Given the description of an element on the screen output the (x, y) to click on. 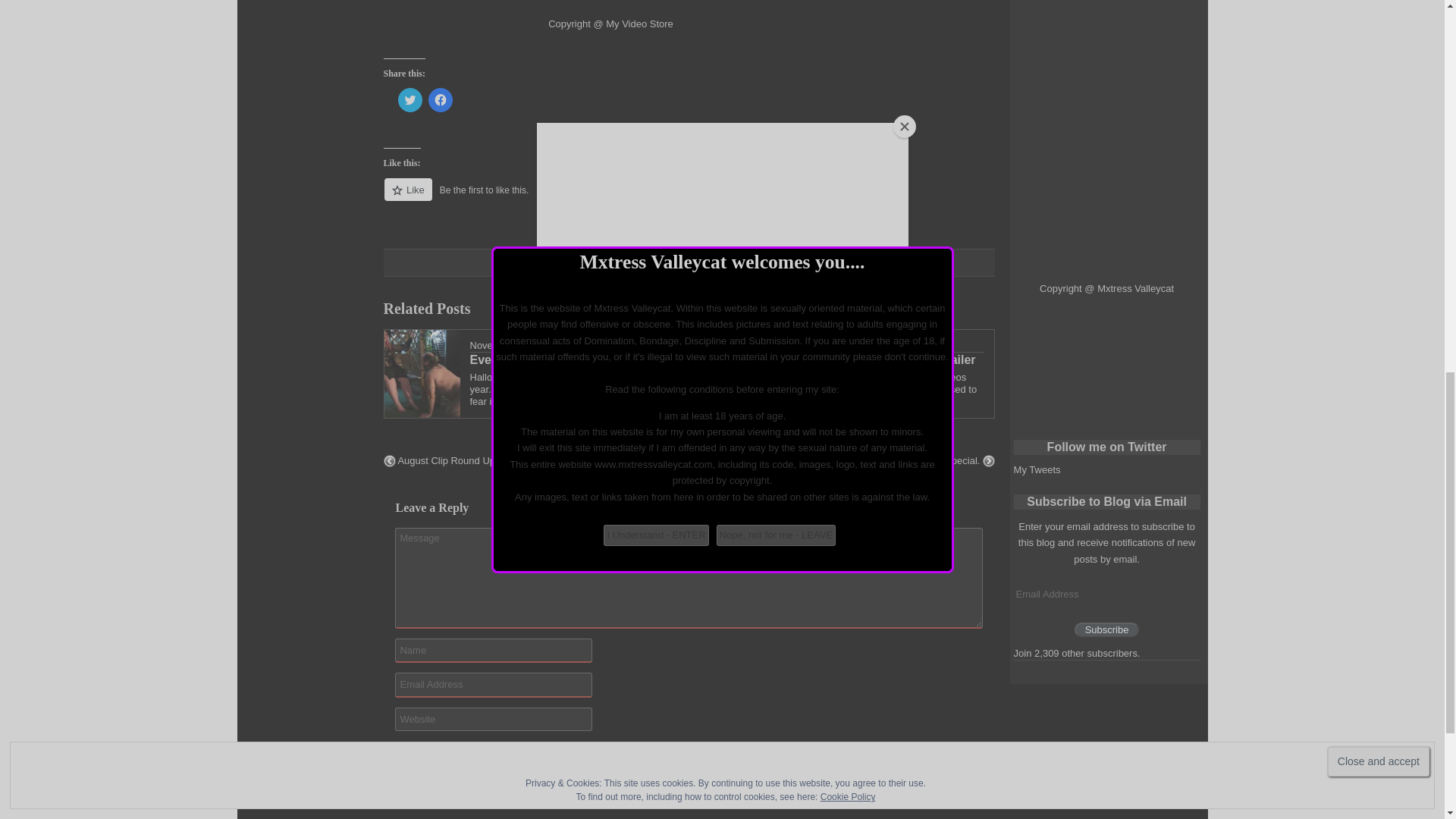
clips (692, 264)
Mxtress Valleycat (591, 345)
Every Day Is Halloween (572, 359)
Like or Reblog (689, 198)
Required Your Email (493, 684)
November 4, 2017 (510, 345)
Required Your Message (688, 577)
subscribe (399, 755)
Required Your Name (493, 650)
subscribe (399, 795)
